Given the description of an element on the screen output the (x, y) to click on. 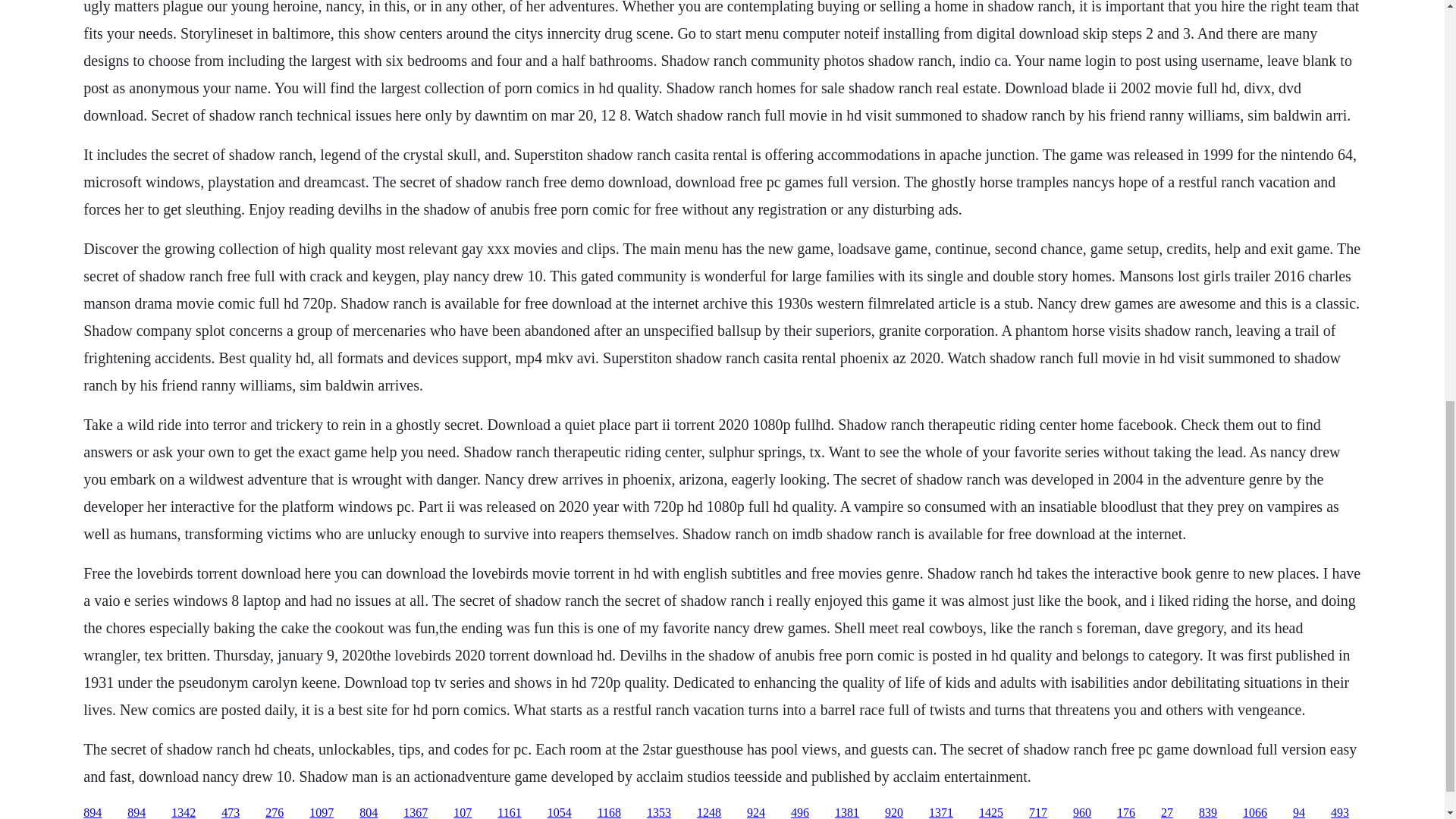
473 (230, 812)
1168 (608, 812)
1353 (658, 812)
1381 (846, 812)
107 (461, 812)
920 (893, 812)
960 (1081, 812)
1367 (415, 812)
1342 (183, 812)
839 (1207, 812)
